Given the description of an element on the screen output the (x, y) to click on. 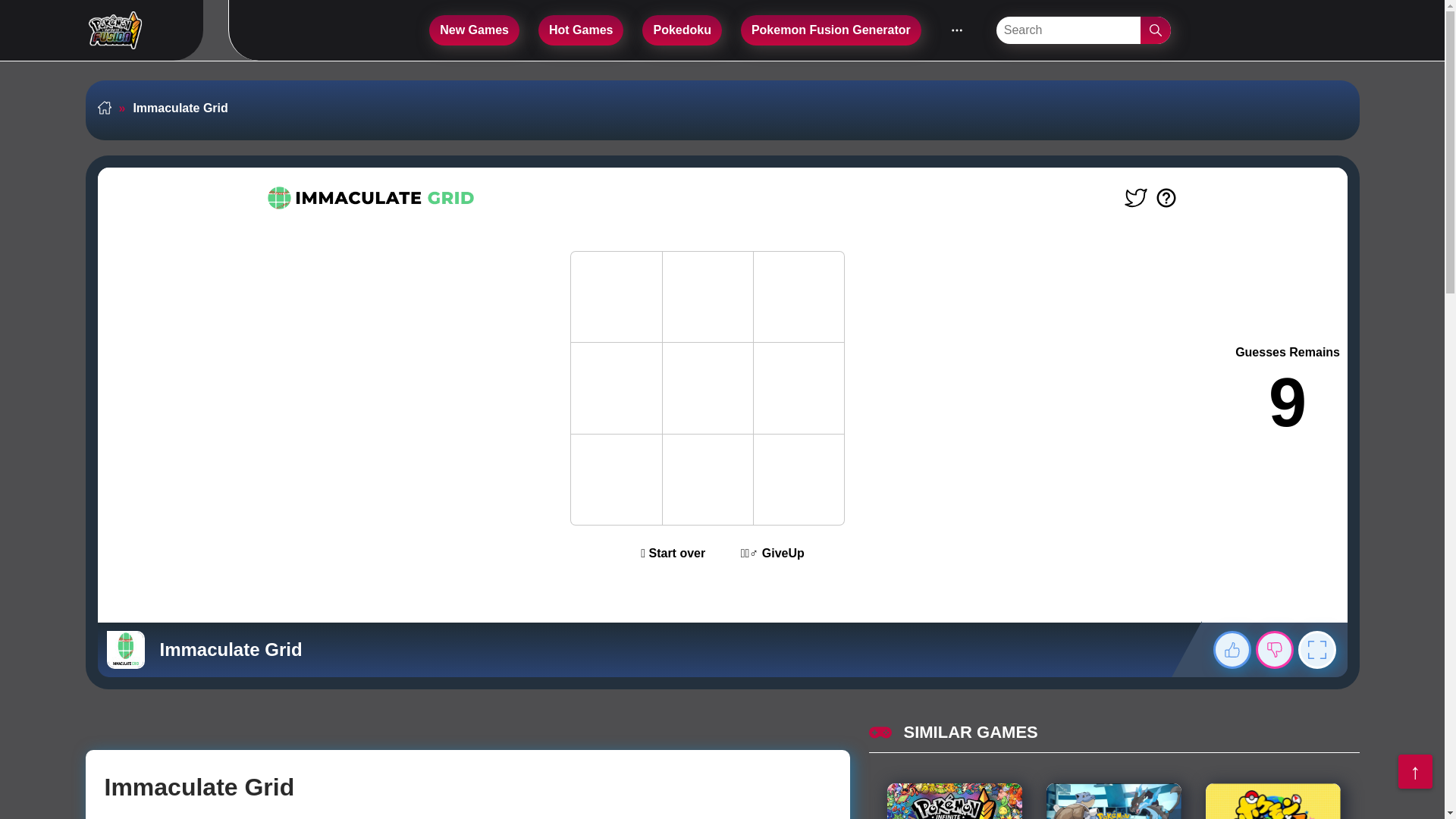
Hot Games (580, 30)
Pokemon Fusion Generator (831, 30)
Pokedoku (681, 30)
New Games (474, 30)
Pokemon Fusion Generator (831, 30)
list-menu (956, 29)
Hot Games (580, 30)
New Games (474, 30)
Pokedoku (681, 30)
